Given the description of an element on the screen output the (x, y) to click on. 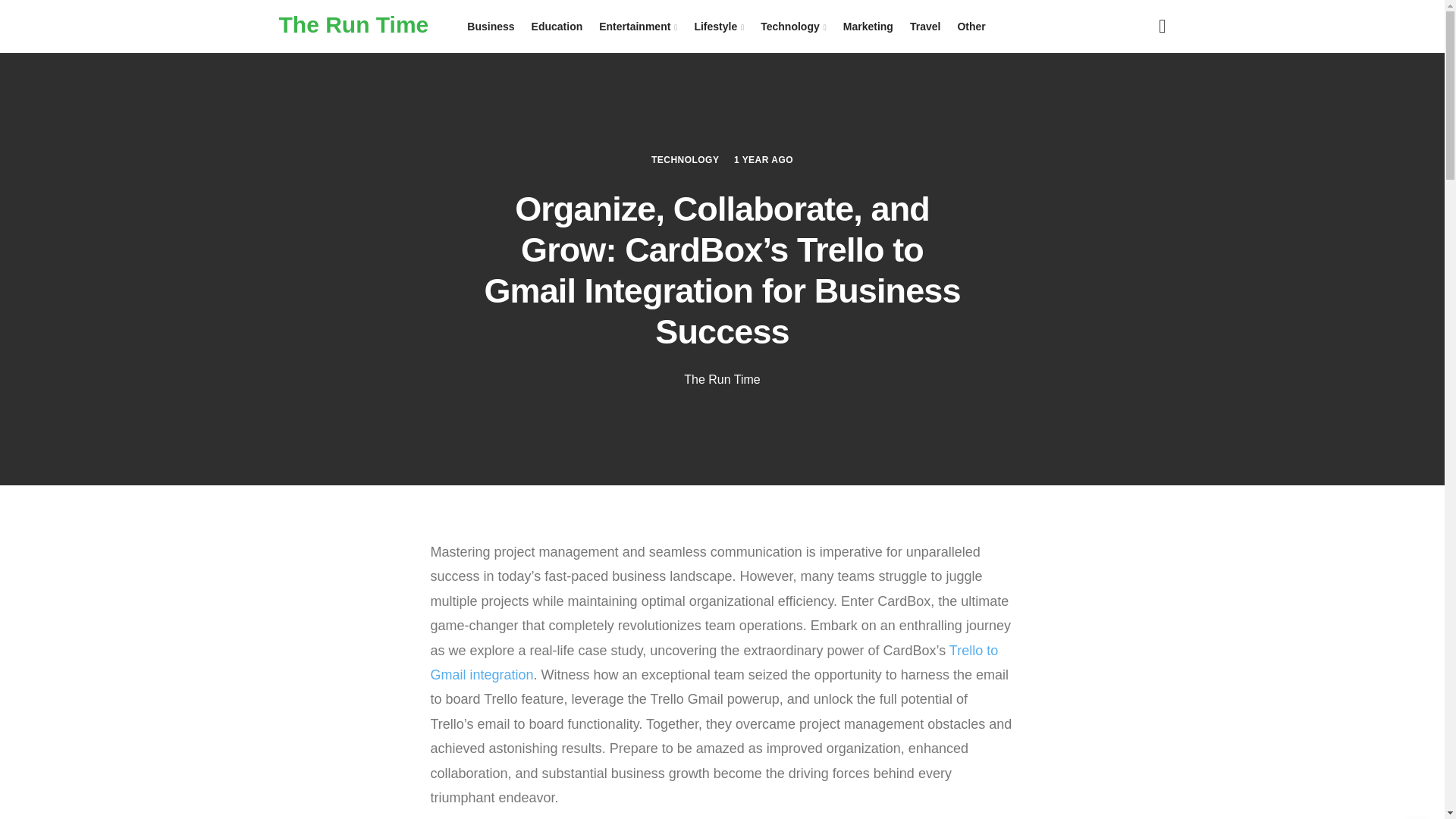
Technology (793, 26)
Business (490, 26)
Lifestyle (718, 26)
Education (556, 26)
TECHNOLOGY (684, 160)
Marketing (867, 26)
Trello to Gmail integration (714, 662)
Entertainment (638, 26)
The Run Time (722, 379)
The Run Time (354, 24)
